Given the description of an element on the screen output the (x, y) to click on. 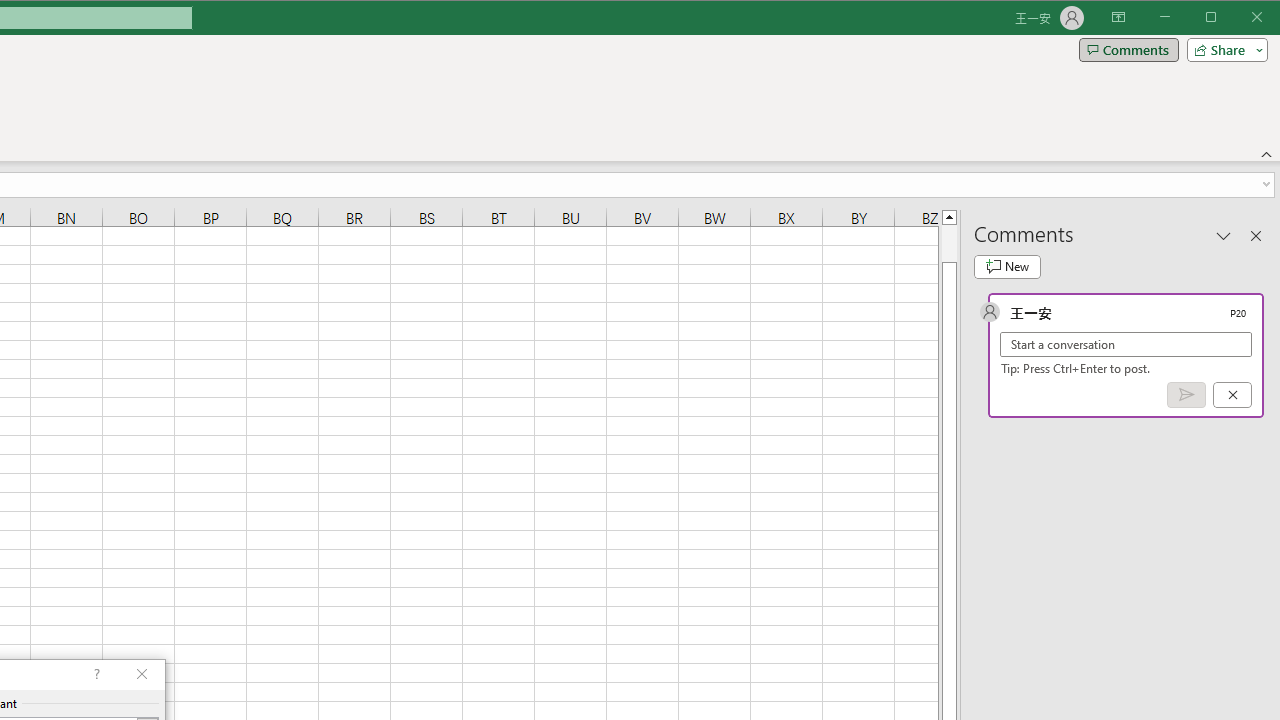
New comment (1007, 266)
